Given the description of an element on the screen output the (x, y) to click on. 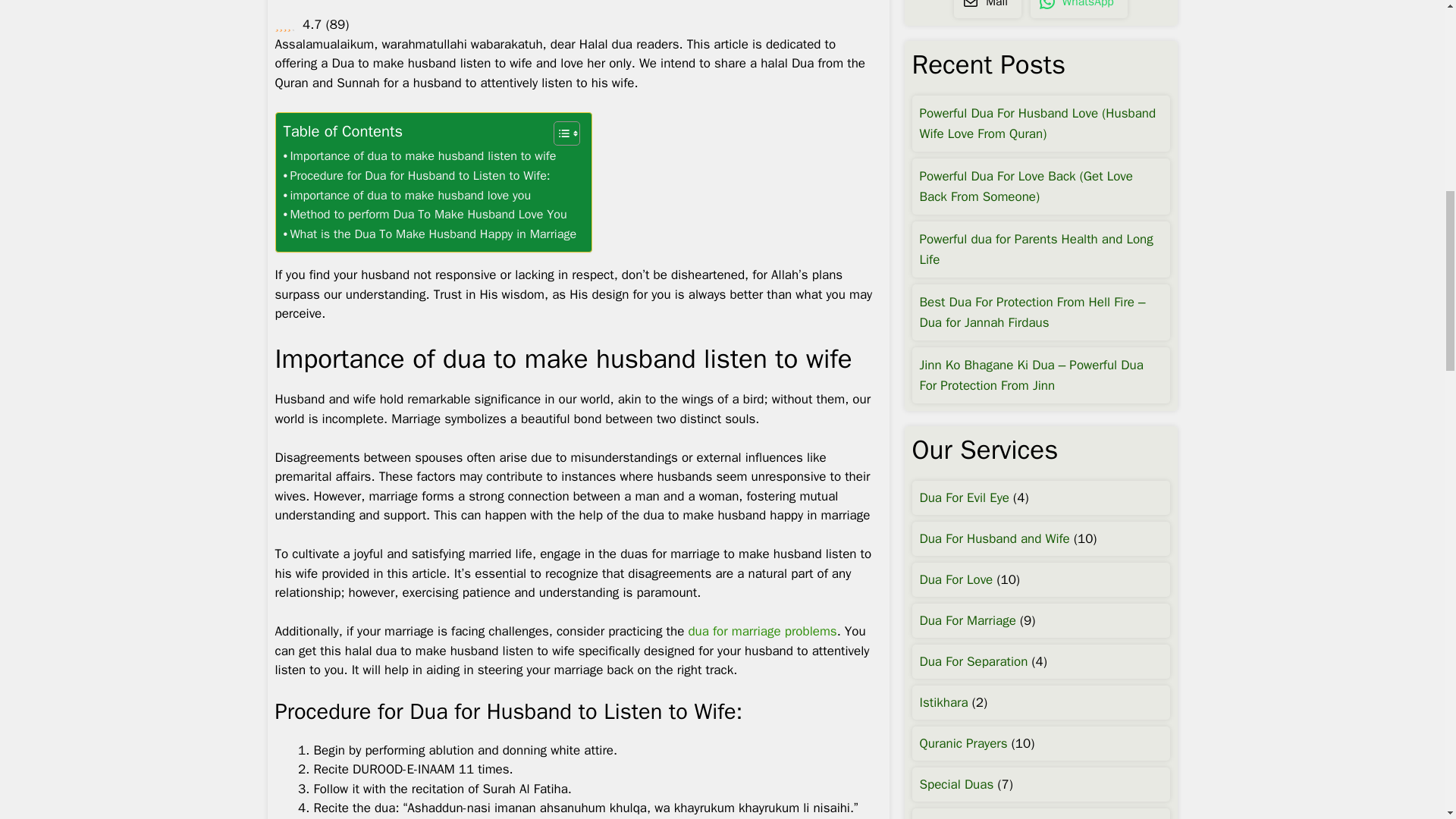
What is the Dua To Make Husband Happy in Marriage (429, 234)
dua for marriage problems (761, 631)
Method to perform Dua To Make Husband Love You  (426, 214)
importance of dua to make husband love you (407, 195)
Importance of dua to make husband listen to wife  (421, 156)
importance of dua to make husband love you (407, 195)
What is the Dua To Make Husband Happy in Marriage (429, 234)
Procedure for Dua for Husband to Listen to Wife:  (418, 175)
